Given the description of an element on the screen output the (x, y) to click on. 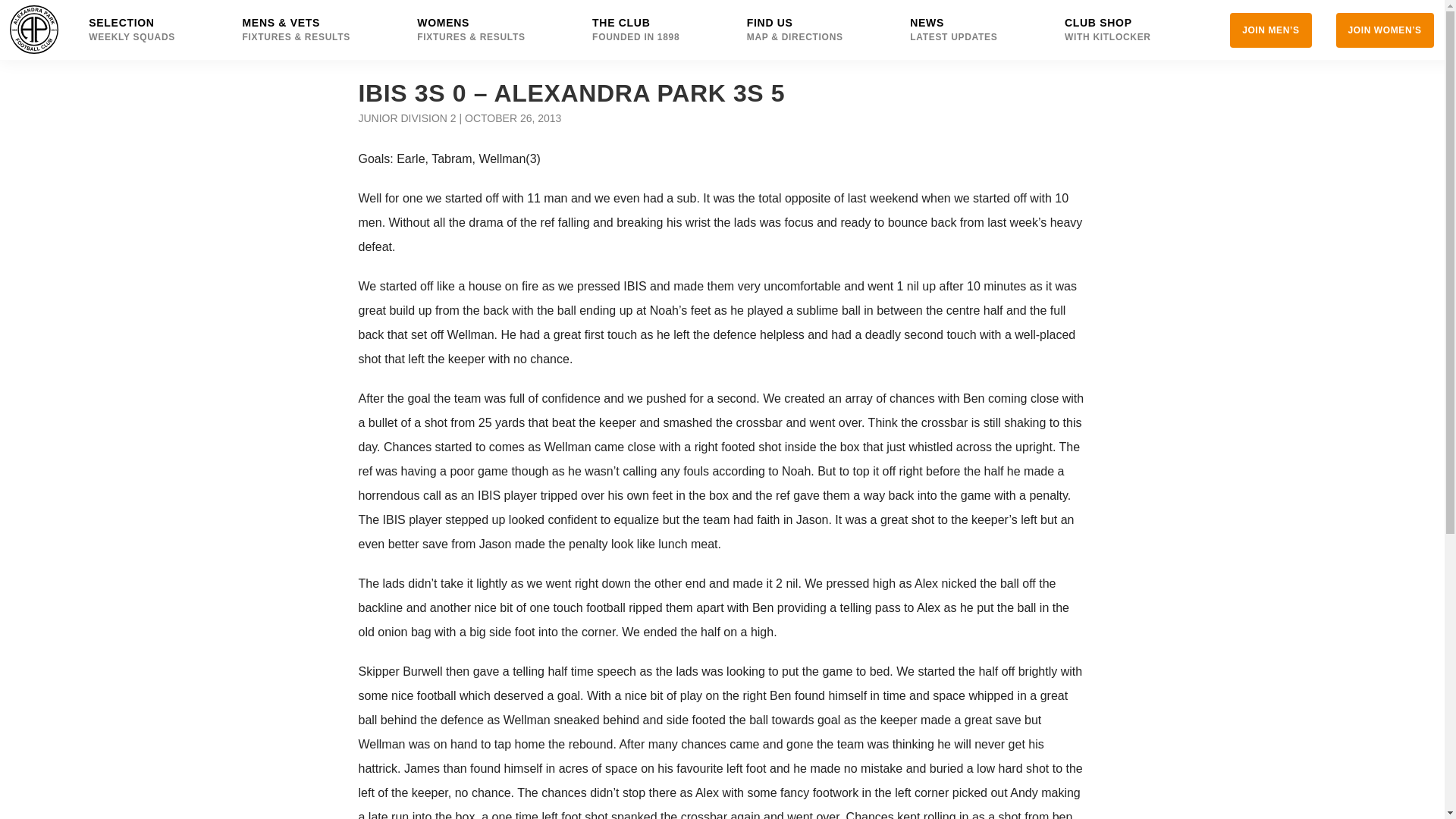
ALEXANDRA PARK FC (143, 30)
Alexandra Park FC (1119, 30)
